Given the description of an element on the screen output the (x, y) to click on. 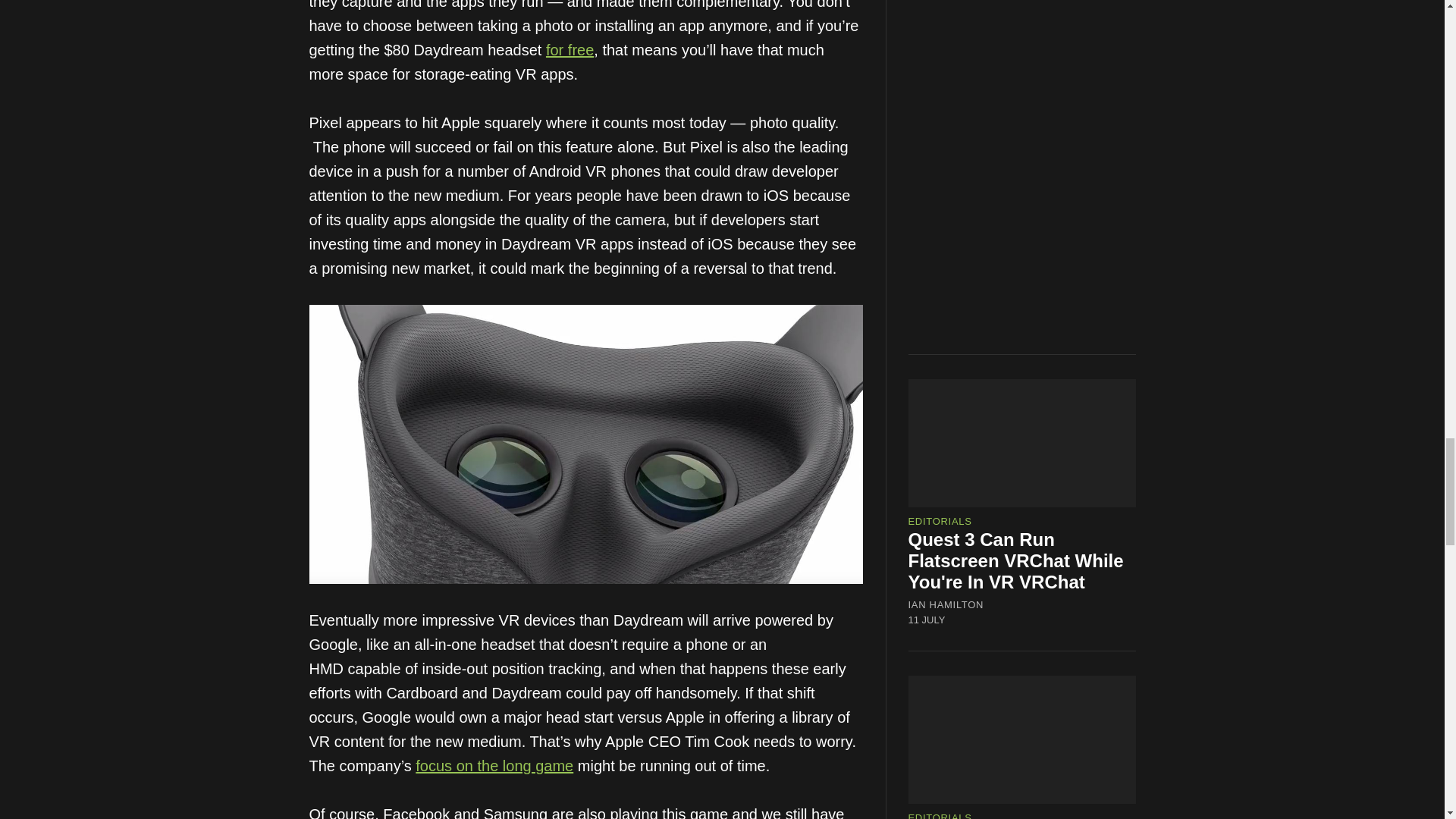
focus on the long game (493, 765)
for free (570, 49)
